Given the description of an element on the screen output the (x, y) to click on. 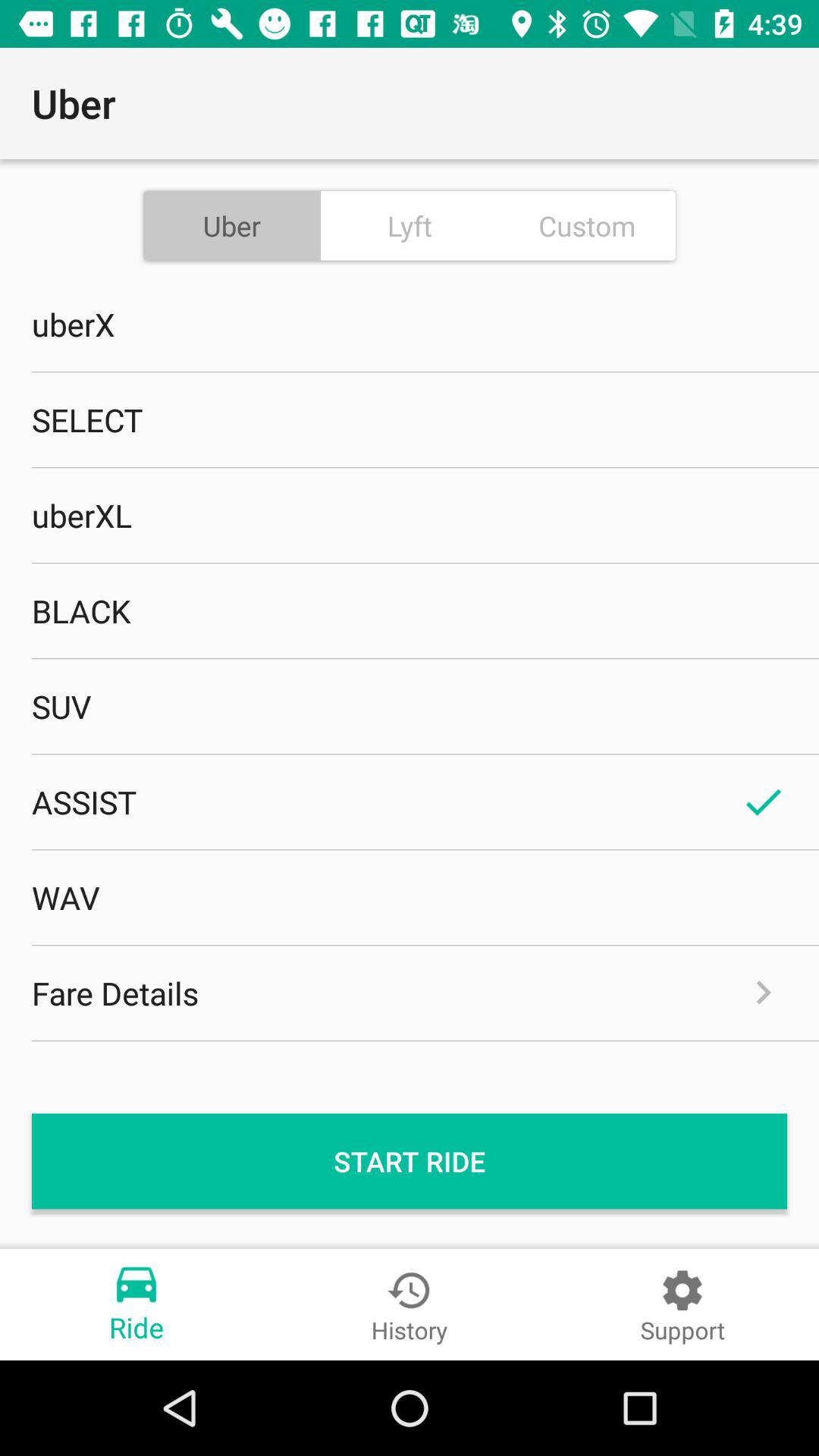
tap icon next to the uber (409, 225)
